Given the description of an element on the screen output the (x, y) to click on. 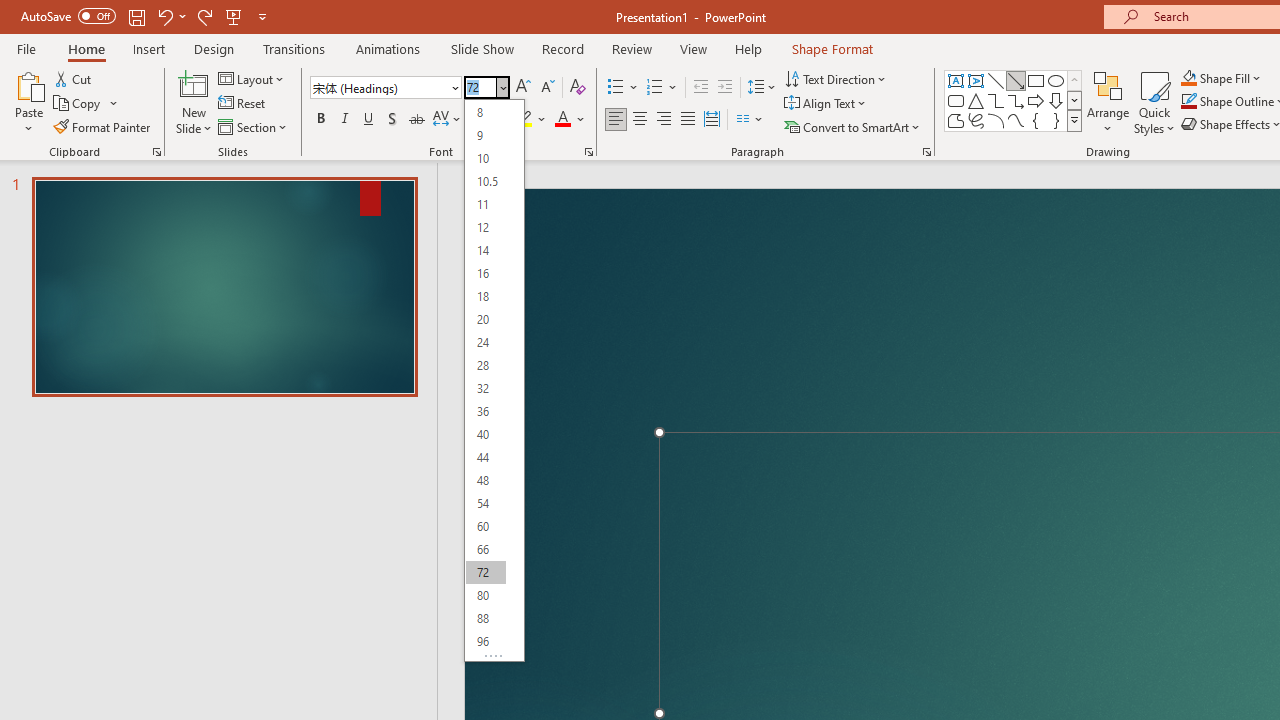
8 (485, 111)
88 (485, 618)
